Given the description of an element on the screen output the (x, y) to click on. 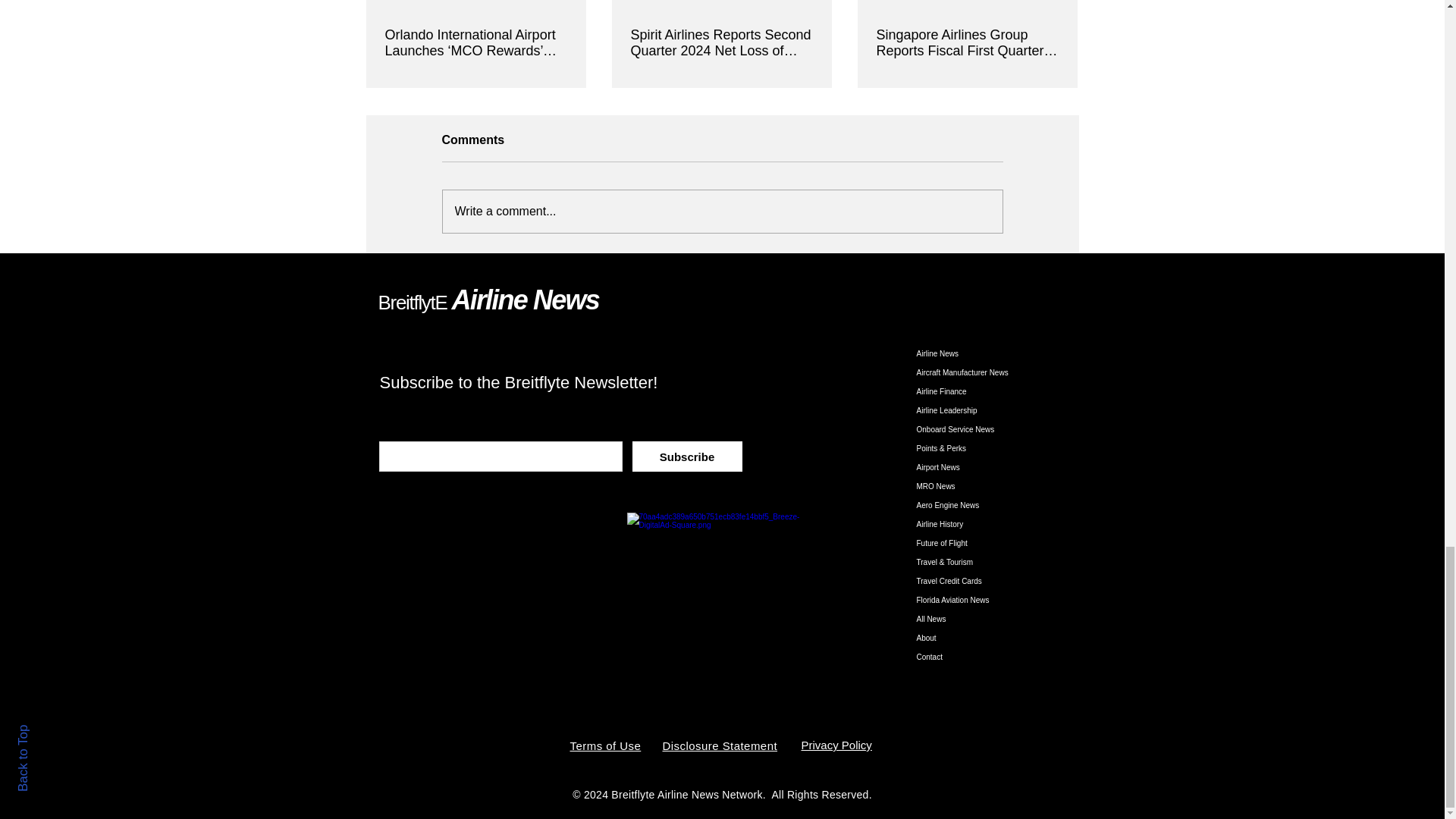
Breit (395, 302)
Subscribe (686, 456)
Write a comment... (722, 211)
